Given the description of an element on the screen output the (x, y) to click on. 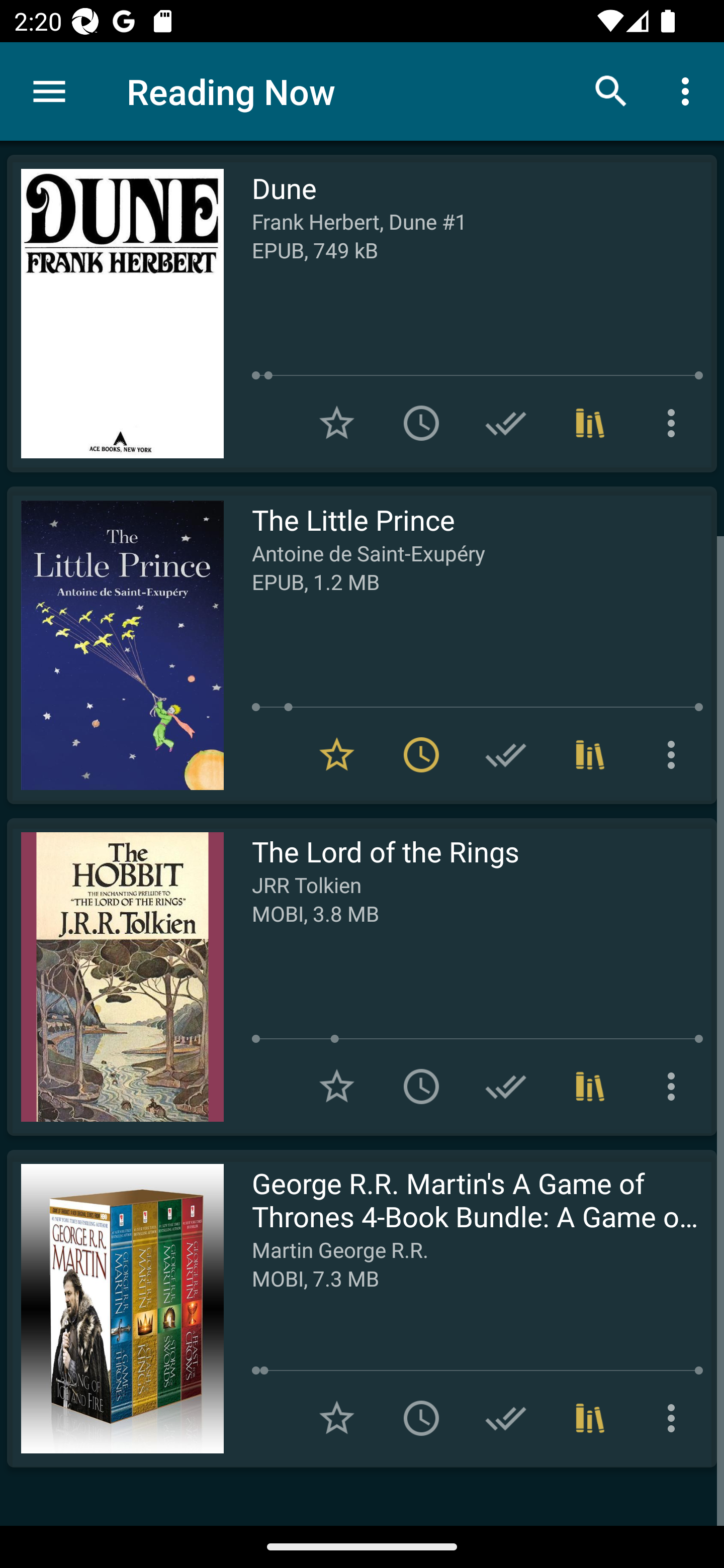
Menu (49, 91)
Search books & documents (611, 90)
More options (688, 90)
Read Dune (115, 313)
Add to Favorites (336, 423)
Add to To read (421, 423)
Add to Have read (505, 423)
Collections (1) (590, 423)
More options (674, 423)
Read The Little Prince (115, 645)
Remove from Favorites (336, 753)
Remove from To read (421, 753)
Add to Have read (505, 753)
Collections (1) (590, 753)
More options (674, 753)
Read The Lord of the Rings (115, 976)
Add to Favorites (336, 1086)
Add to To read (421, 1086)
Add to Have read (505, 1086)
Collections (1) (590, 1086)
More options (674, 1086)
Add to Favorites (336, 1417)
Add to To read (421, 1417)
Add to Have read (505, 1417)
Collections (1) (590, 1417)
More options (674, 1417)
